Given the description of an element on the screen output the (x, y) to click on. 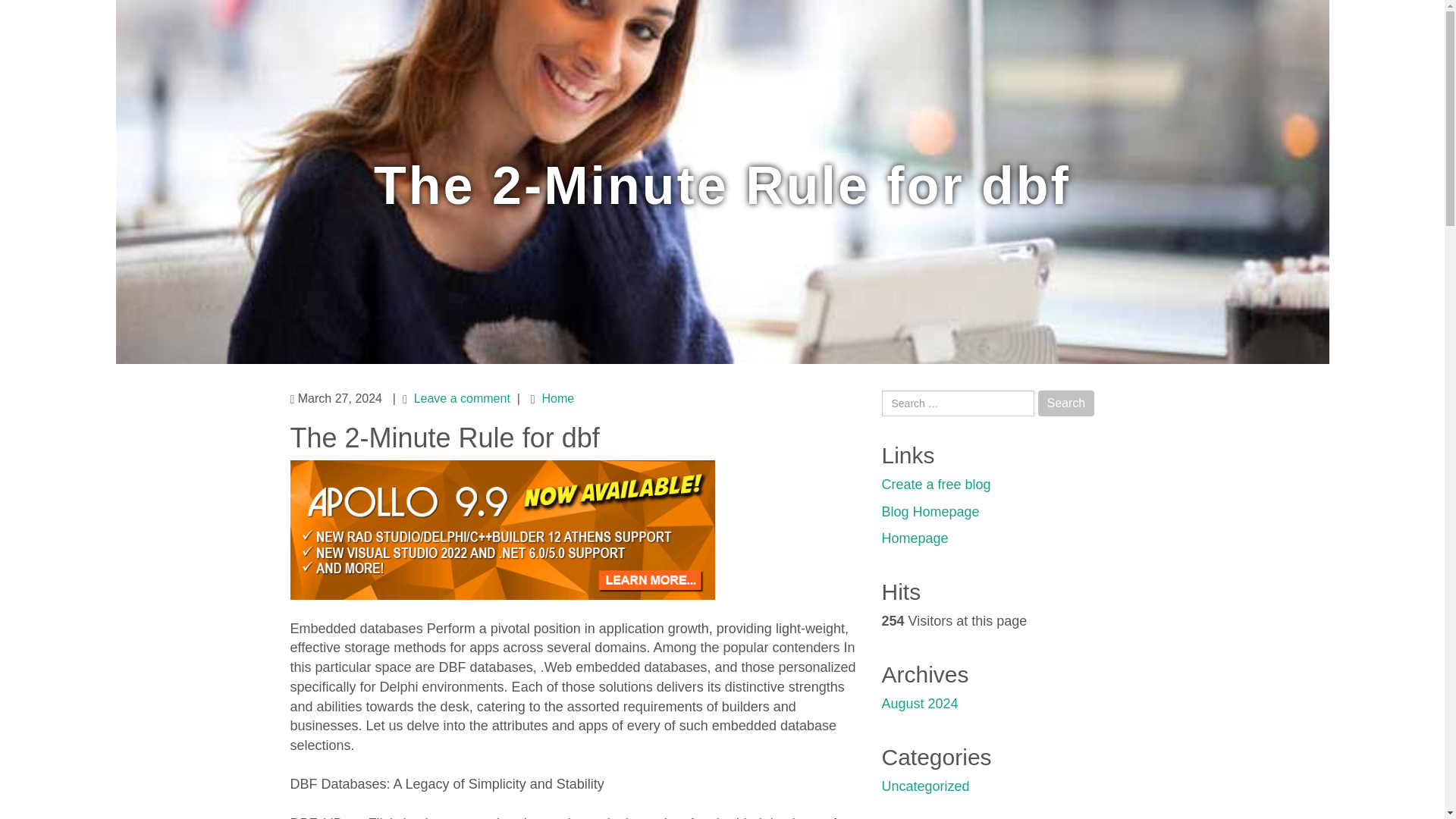
Search (1066, 403)
August 2024 (919, 703)
Uncategorized (924, 785)
Search (1066, 403)
Homepage (913, 538)
Leave a comment (462, 398)
Blog Homepage (929, 511)
Home (557, 398)
Create a free blog (935, 484)
Search (1066, 403)
